Given the description of an element on the screen output the (x, y) to click on. 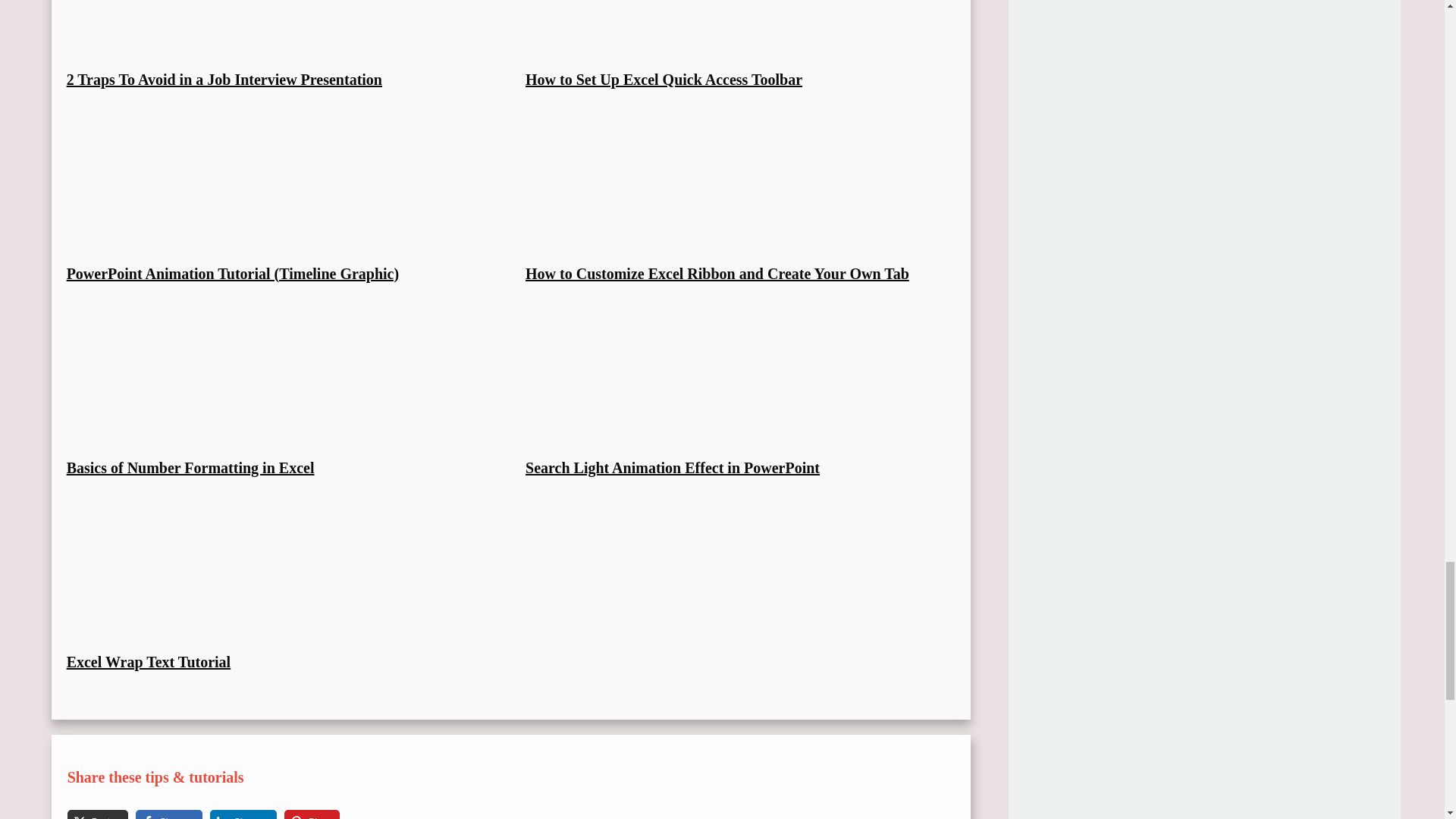
Share (159, 814)
Pin (302, 814)
Post (88, 814)
Search Light Animation Effect in PowerPoint (672, 467)
Excel Wrap Text Tutorial (148, 661)
How to Set Up Excel Quick Access Toolbar (663, 79)
Basics of Number Formatting in Excel (190, 467)
How to Customize Excel Ribbon and Create Your Own Tab (716, 273)
2 Traps To Avoid in a Job Interview Presentation (223, 79)
Share (234, 814)
